Given the description of an element on the screen output the (x, y) to click on. 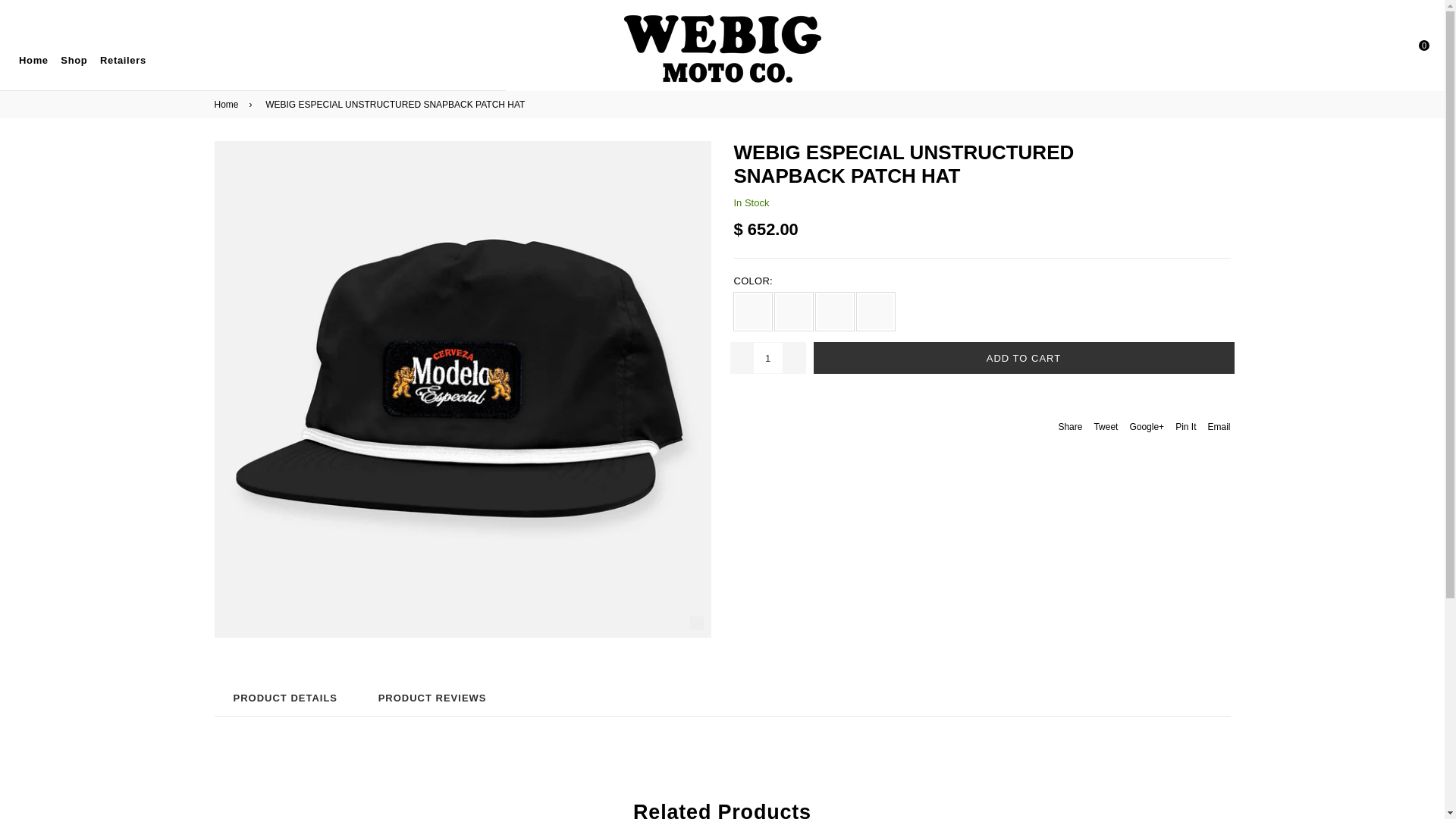
Share on Facebook (1070, 426)
Home (38, 60)
Share by Email (1218, 426)
Blue (876, 311)
Shop (79, 60)
Black (752, 311)
1 (767, 357)
Red (834, 311)
White (793, 311)
Back to the home page (228, 104)
